Given the description of an element on the screen output the (x, y) to click on. 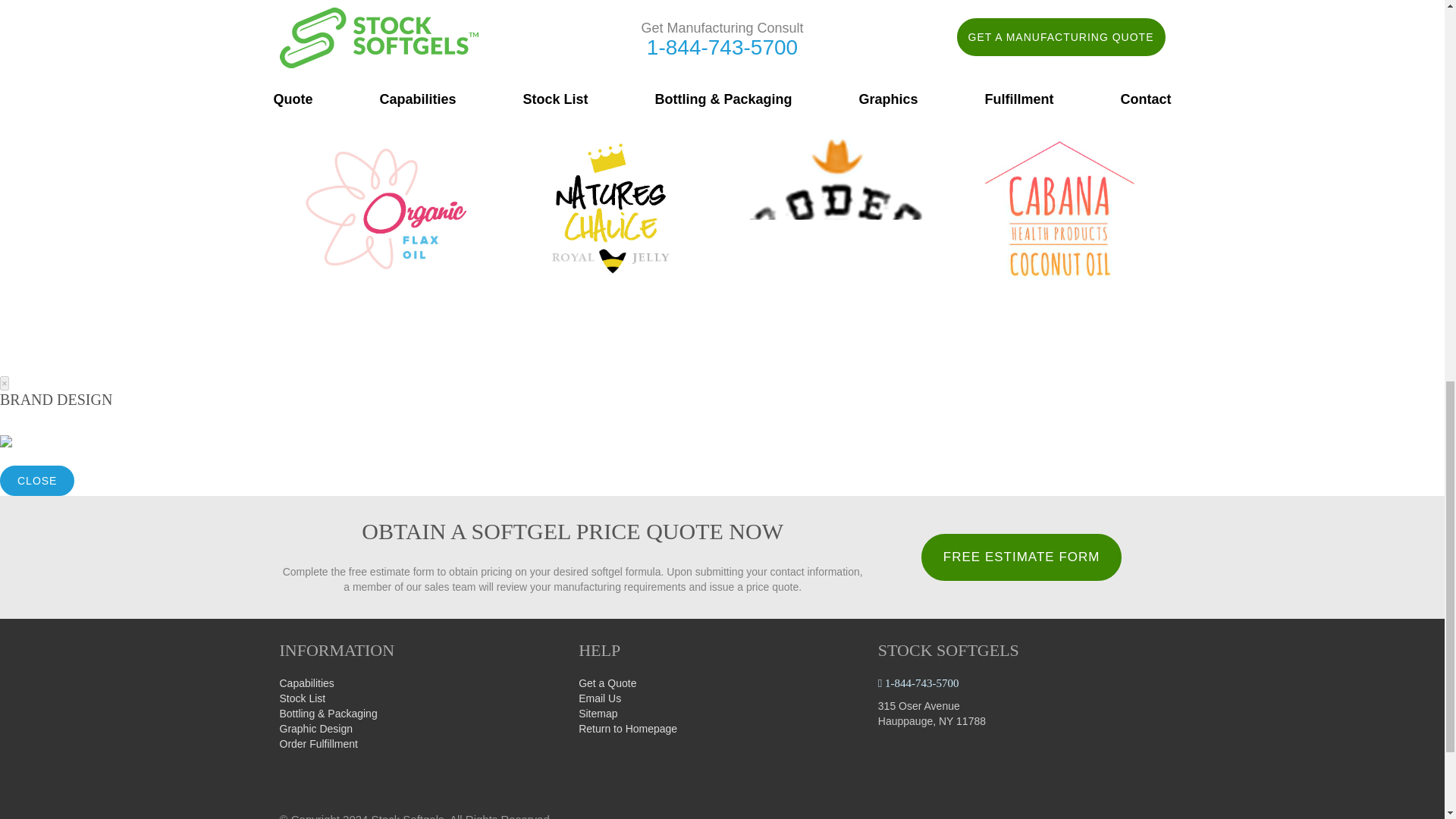
Email Us (599, 698)
Get a Quote (607, 683)
Order Fulfillment (317, 743)
Return to Homepage (627, 728)
Free Manufacturing Estimate (1021, 556)
Stock List (301, 698)
Graphic Design (315, 728)
Sitemap (597, 713)
FREE ESTIMATE FORM (1021, 556)
Capabilities (306, 683)
